Given the description of an element on the screen output the (x, y) to click on. 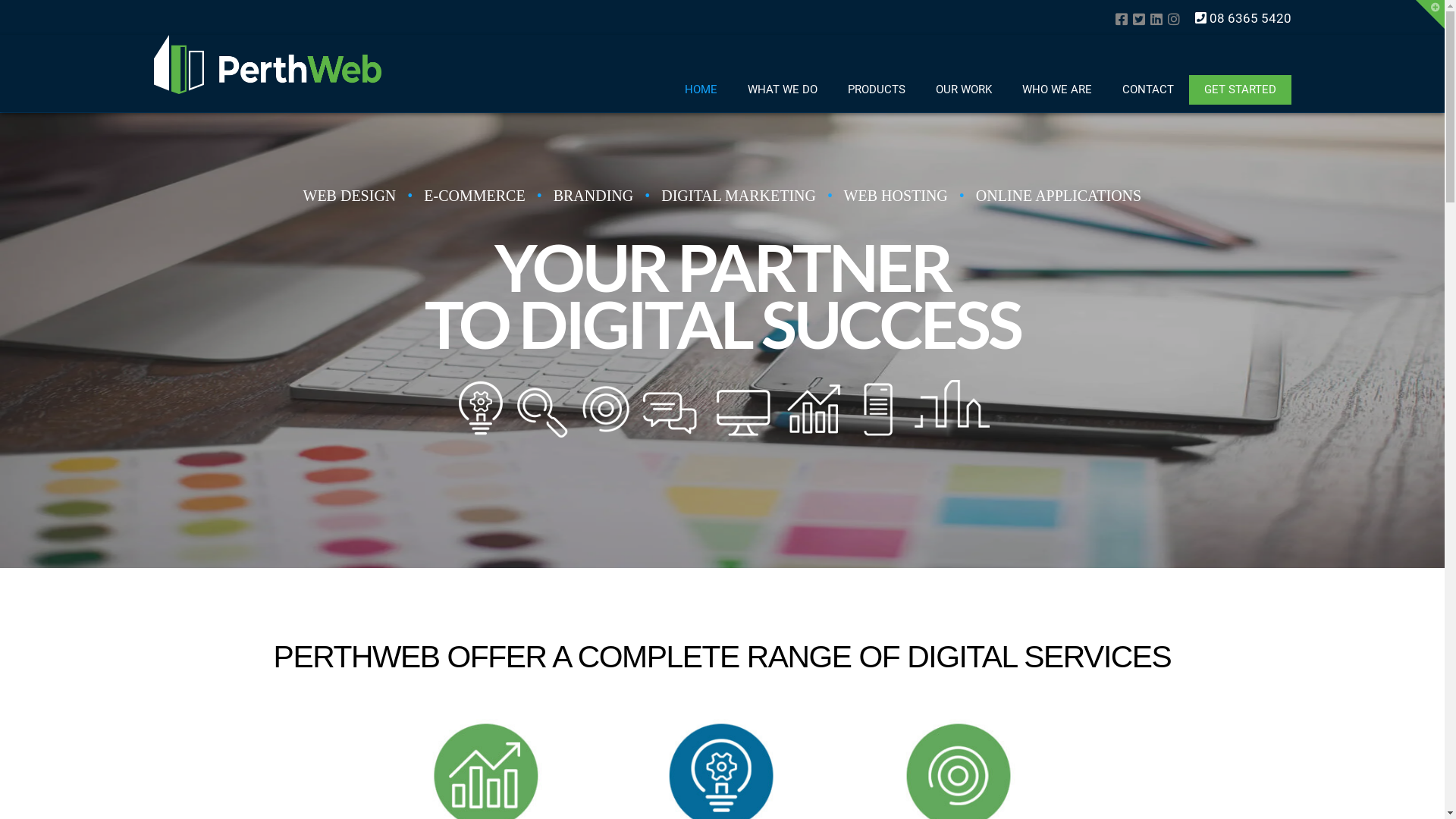
WHO WE ARE Element type: text (1057, 89)
CONTACT Element type: text (1148, 89)
LinkedIn Element type: hover (1155, 18)
Toggle the Widgetbar Element type: text (1429, 14)
Twitter Element type: hover (1138, 18)
Facebook Element type: hover (1120, 18)
OUR WORK Element type: text (963, 89)
Instagram Element type: hover (1173, 18)
PRODUCTS Element type: text (876, 89)
08 6365 5420 Element type: text (1243, 17)
GET STARTED Element type: text (1240, 89)
HOME Element type: text (699, 89)
WHAT WE DO Element type: text (782, 89)
